Given the description of an element on the screen output the (x, y) to click on. 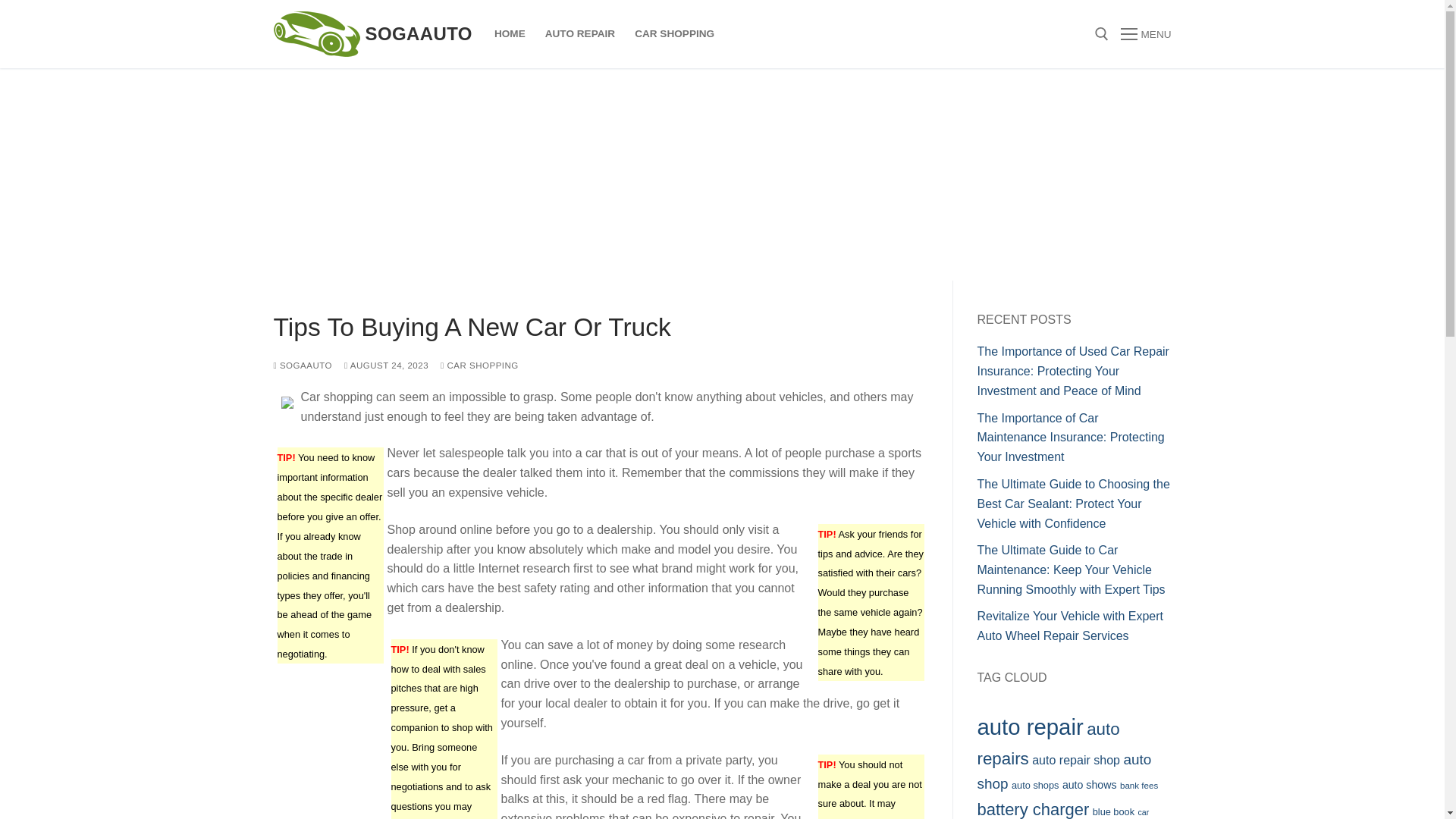
SOGAAUTO (418, 33)
AUGUST 24, 2023 (385, 365)
AUTO REPAIR (579, 33)
MENU (1145, 34)
CAR SHOPPING (479, 365)
